Given the description of an element on the screen output the (x, y) to click on. 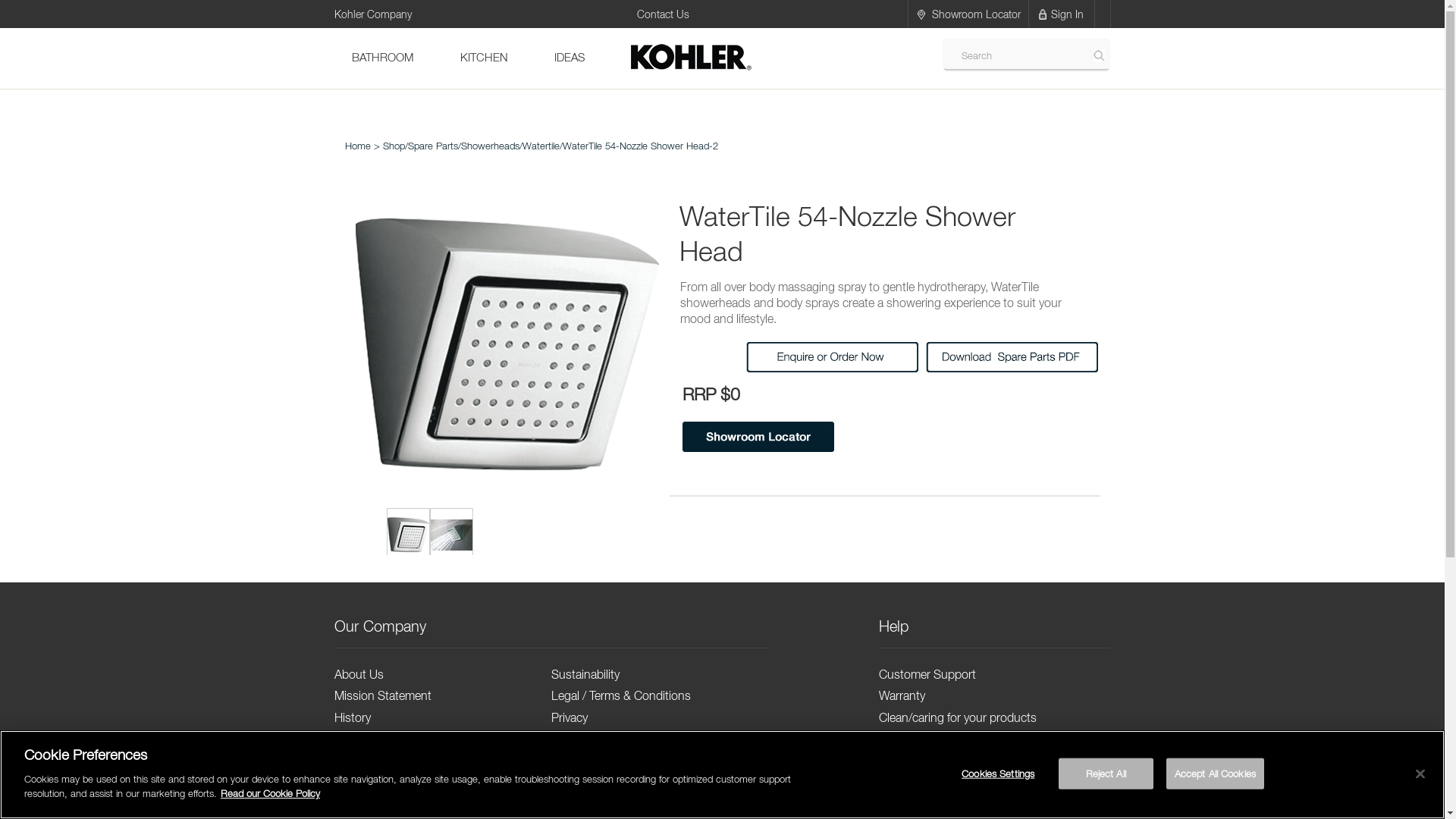
Mission Statement Element type: text (381, 695)
About Us Element type: text (357, 673)
Home Element type: text (357, 145)
Search Element type: text (1098, 55)
  Element type: text (407, 535)
Accept All Cookies Element type: text (1215, 773)
KOHLER Clarity Element type: text (374, 804)
Reject All Element type: text (1105, 773)
Read our Cookie Policy Element type: text (270, 793)
Contact Us Element type: text (663, 13)
Customer Support Element type: text (926, 673)
IDEAS Element type: text (569, 58)
Sign In  Element type: text (1068, 13)
Awards Element type: text (353, 761)
icon showroom Element type: hover (921, 14)
History Element type: text (351, 717)
Sustainability Element type: text (585, 673)
KITCHEN Element type: text (484, 58)
Service Request Form Element type: text (935, 739)
Contact Us Element type: text (580, 783)
Clean/caring for your products Element type: text (957, 717)
Search Element type: text (1035, 55)
icon wishlist Element type: hover (1041, 14)
Legal / Terms & Conditions Element type: text (620, 695)
Subject Access Request Element type: text (614, 761)
Showroom Locator Element type: text (975, 13)
Cookie Policy Element type: text (586, 739)
Cookies Settings Element type: text (997, 773)
Warranty Element type: text (901, 695)
Careers Element type: text (571, 804)
  Element type: text (450, 535)
Privacy Element type: text (569, 717)
BATHROOM Element type: text (381, 58)
LOGO Element type: text (690, 58)
Water Conservation Element type: text (384, 739)
Press Room Element type: text (365, 783)
Kohler Company Element type: text (372, 12)
